Given the description of an element on the screen output the (x, y) to click on. 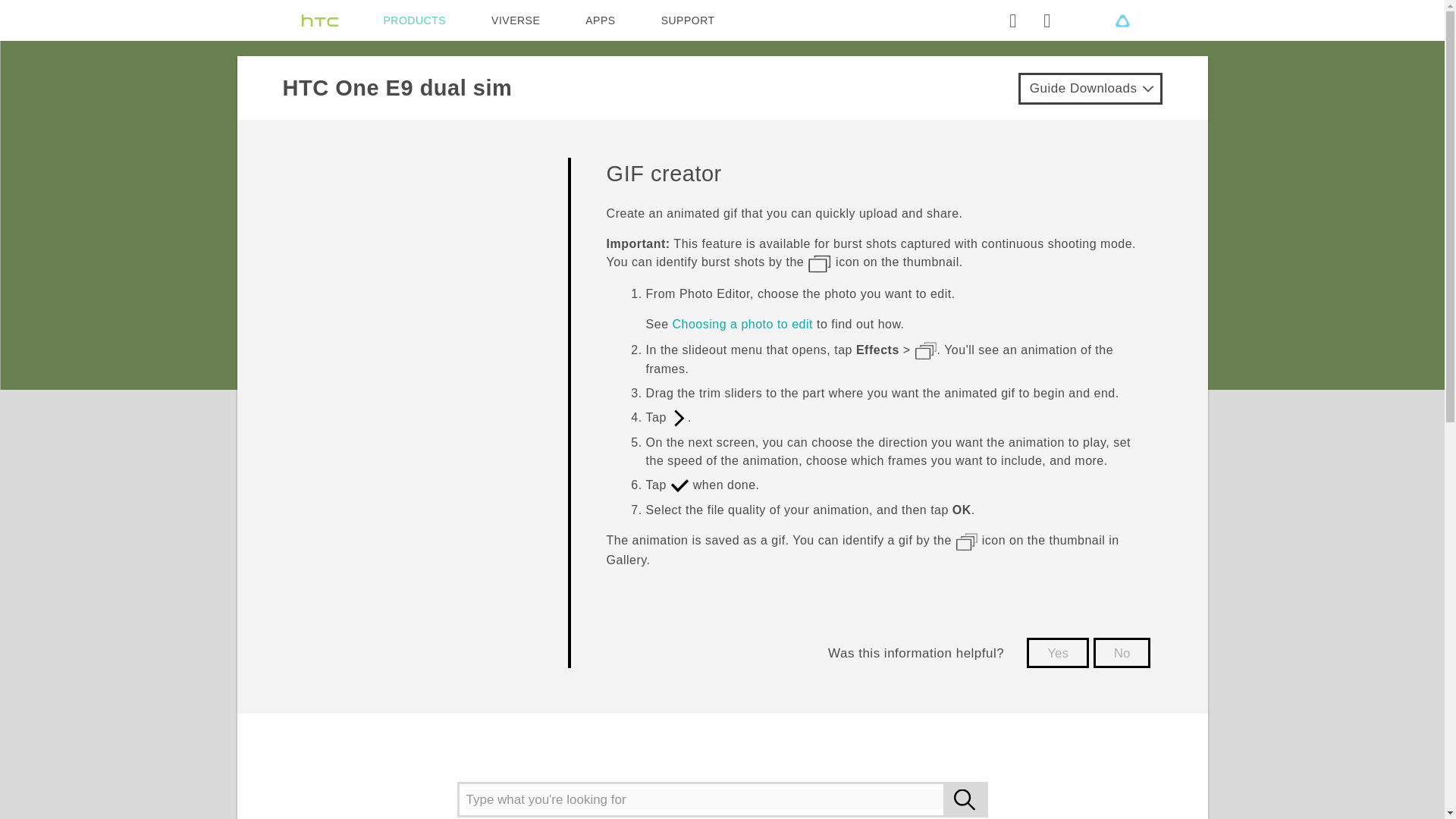
Shopping bag (1046, 19)
VIVERSE (516, 20)
SUPPORT (687, 20)
PRODUCTS (415, 20)
